Given the description of an element on the screen output the (x, y) to click on. 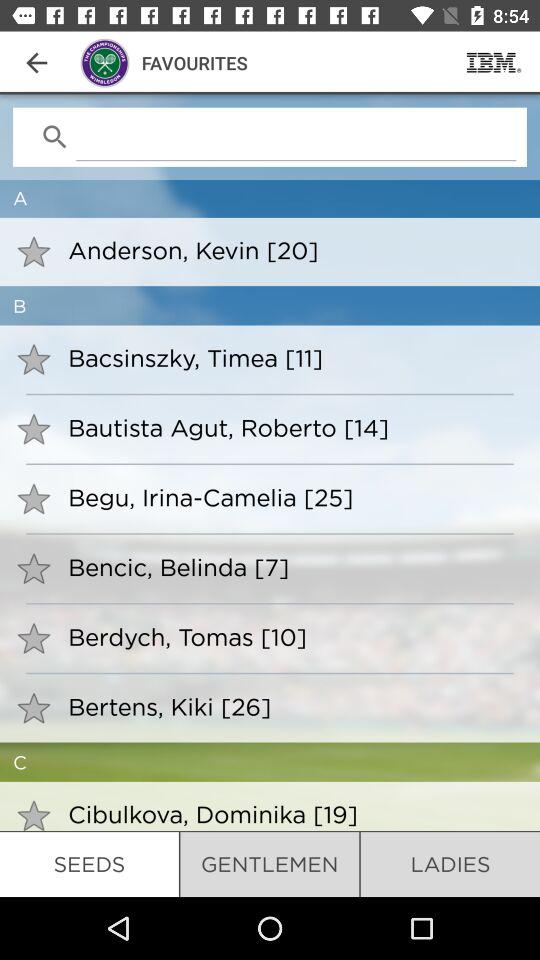
select item at the top right corner (494, 62)
